Given the description of an element on the screen output the (x, y) to click on. 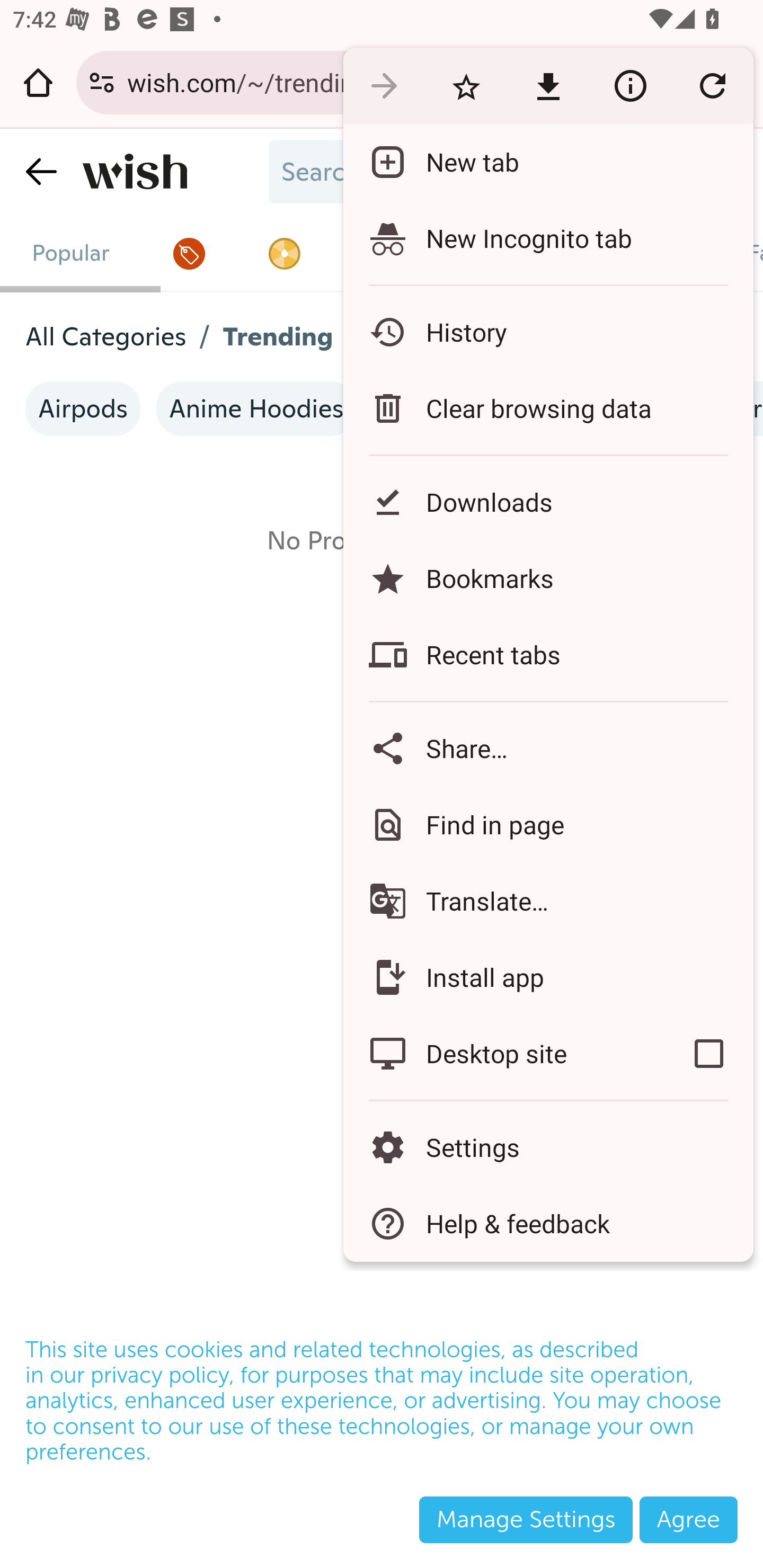
Forward (383, 85)
Bookmark (465, 85)
Download (548, 85)
Page info (630, 85)
Refresh (712, 85)
New tab (548, 161)
New Incognito tab (548, 237)
History (548, 332)
Clear browsing data (548, 408)
Downloads (548, 502)
Bookmarks (548, 578)
Recent tabs (548, 654)
Share… (548, 748)
Find in page (548, 824)
Translate… (548, 900)
Install app (548, 977)
Desktop site Turn on Request desktop site (503, 1053)
Settings (548, 1146)
Help & feedback (548, 1223)
